Given the description of an element on the screen output the (x, y) to click on. 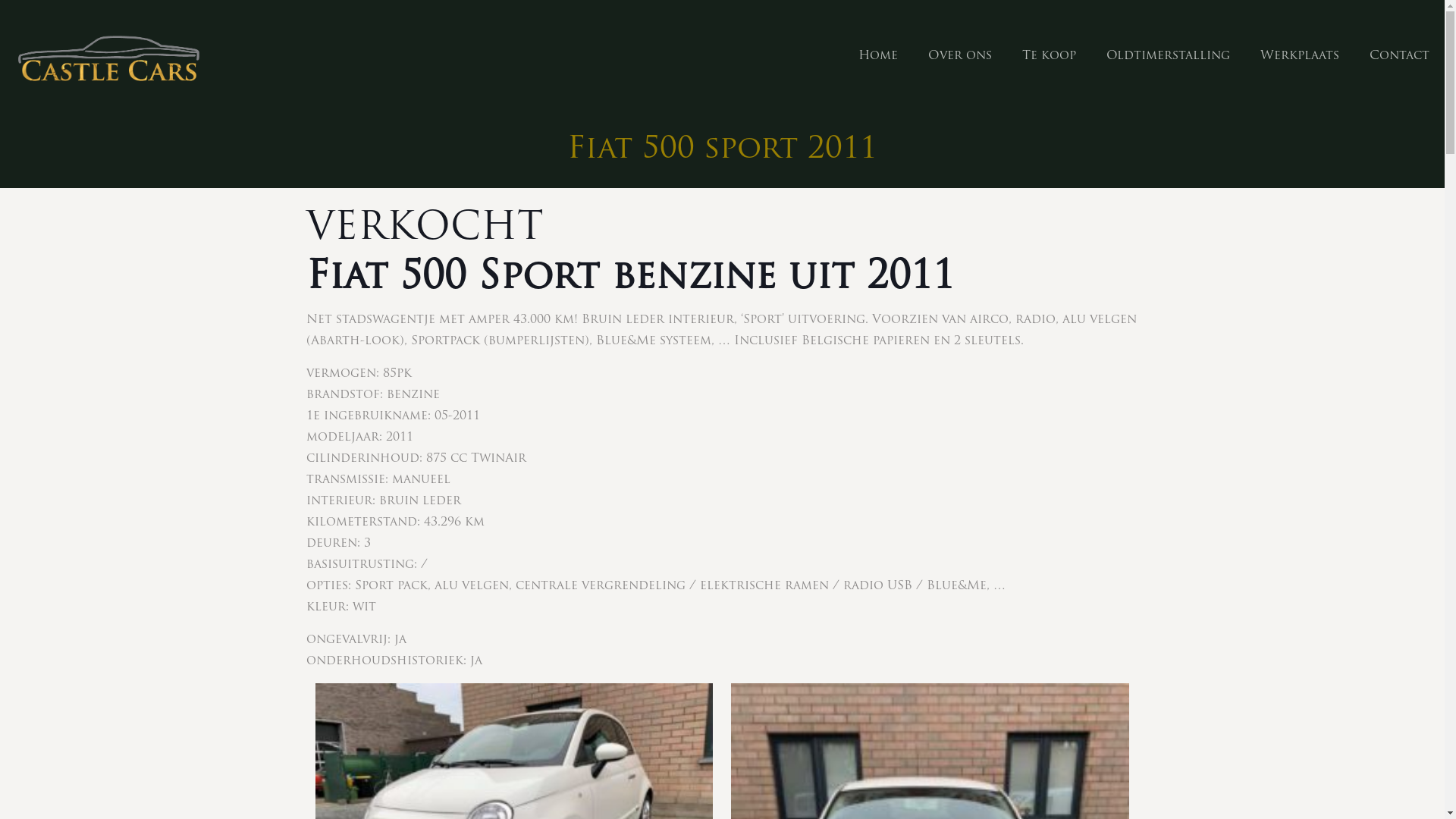
Te koop Element type: text (1049, 55)
Werkplaats Element type: text (1299, 55)
Over ons Element type: text (960, 55)
Oldtimerstalling Element type: text (1168, 55)
Home Element type: text (878, 55)
Castle Cars Element type: hover (108, 55)
Contact Element type: text (1399, 55)
